Given the description of an element on the screen output the (x, y) to click on. 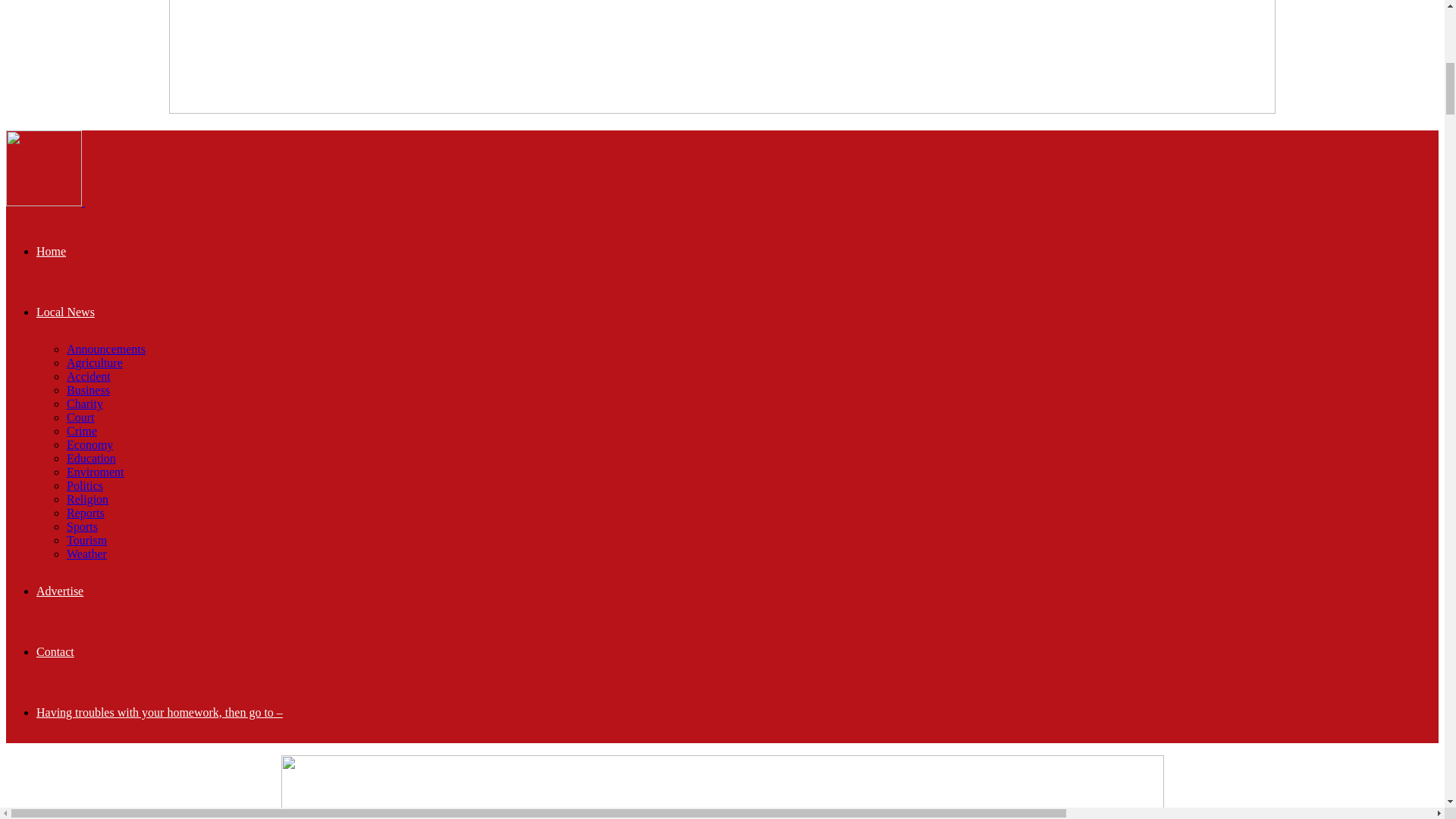
Home (50, 250)
Announcements (105, 349)
Local News (65, 311)
